Given the description of an element on the screen output the (x, y) to click on. 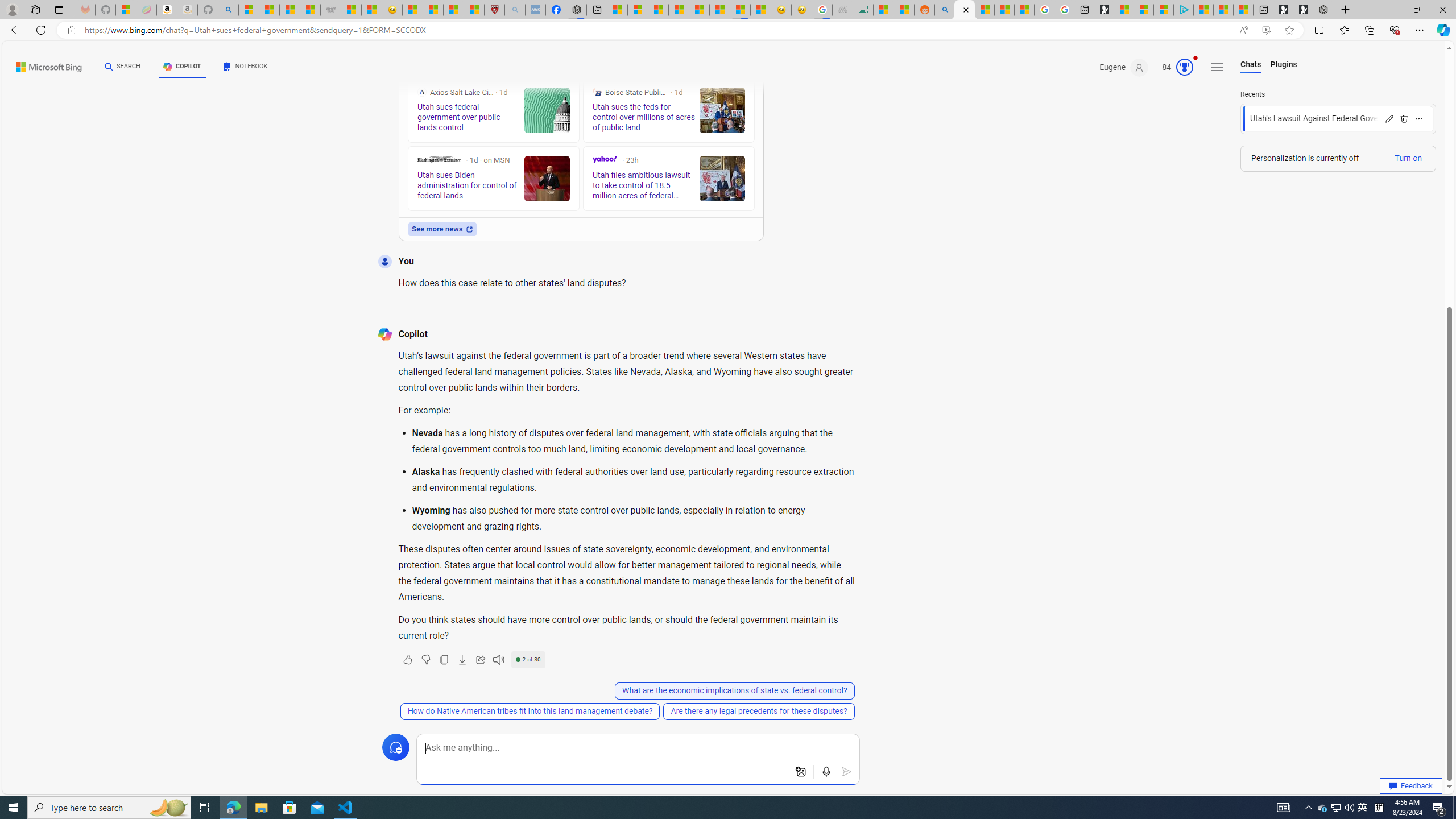
Combat Siege (330, 9)
Rename (1388, 118)
Eugene (1123, 67)
Utah sues Biden administration for control of federal lands (546, 178)
14 Common Myths Debunked By Scientific Facts (699, 9)
Submit (847, 771)
Chats (1250, 65)
